Given the description of an element on the screen output the (x, y) to click on. 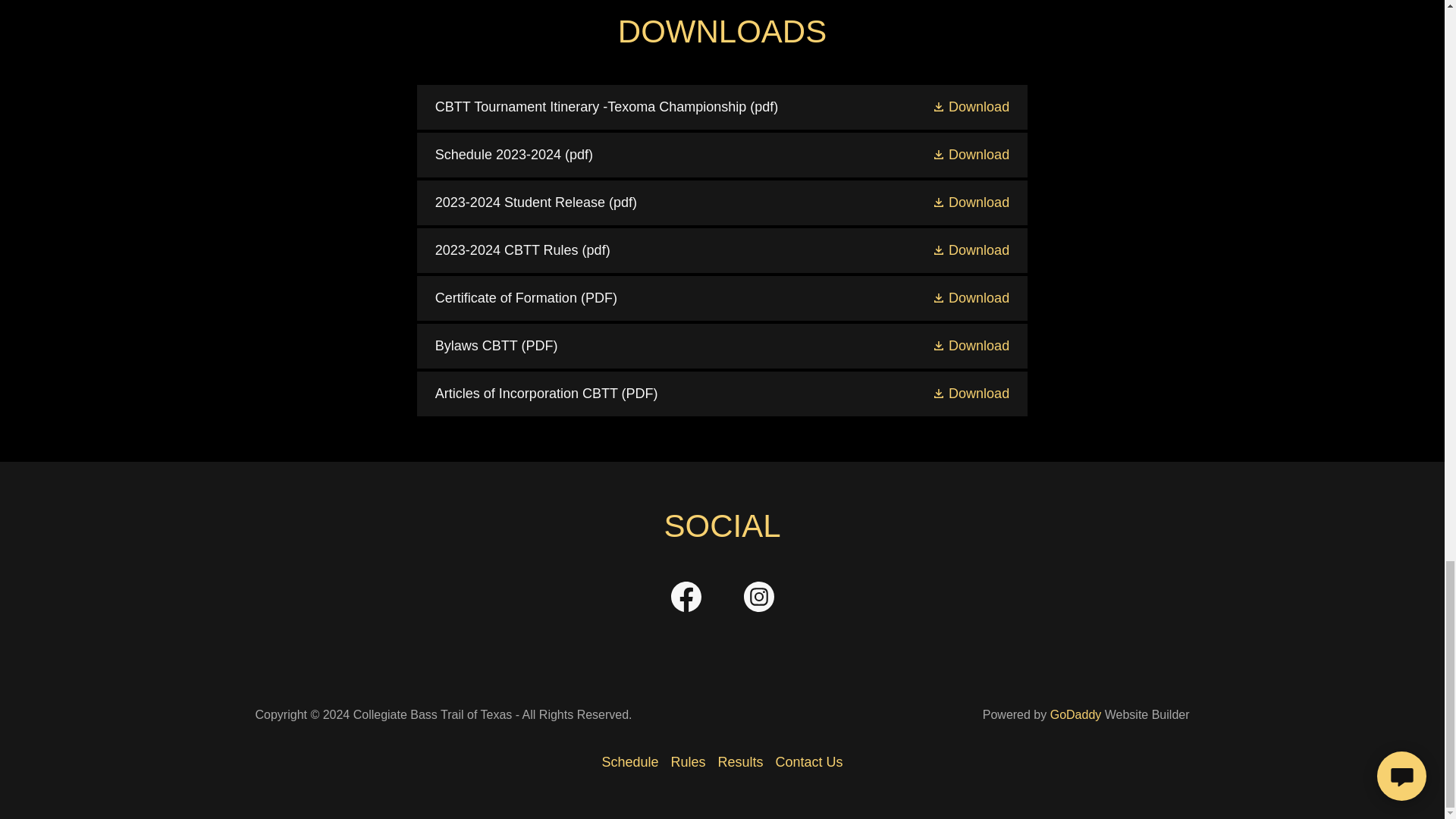
Results (739, 762)
Schedule (629, 762)
Contact Us (809, 762)
Rules (687, 762)
GoDaddy (1075, 714)
